Given the description of an element on the screen output the (x, y) to click on. 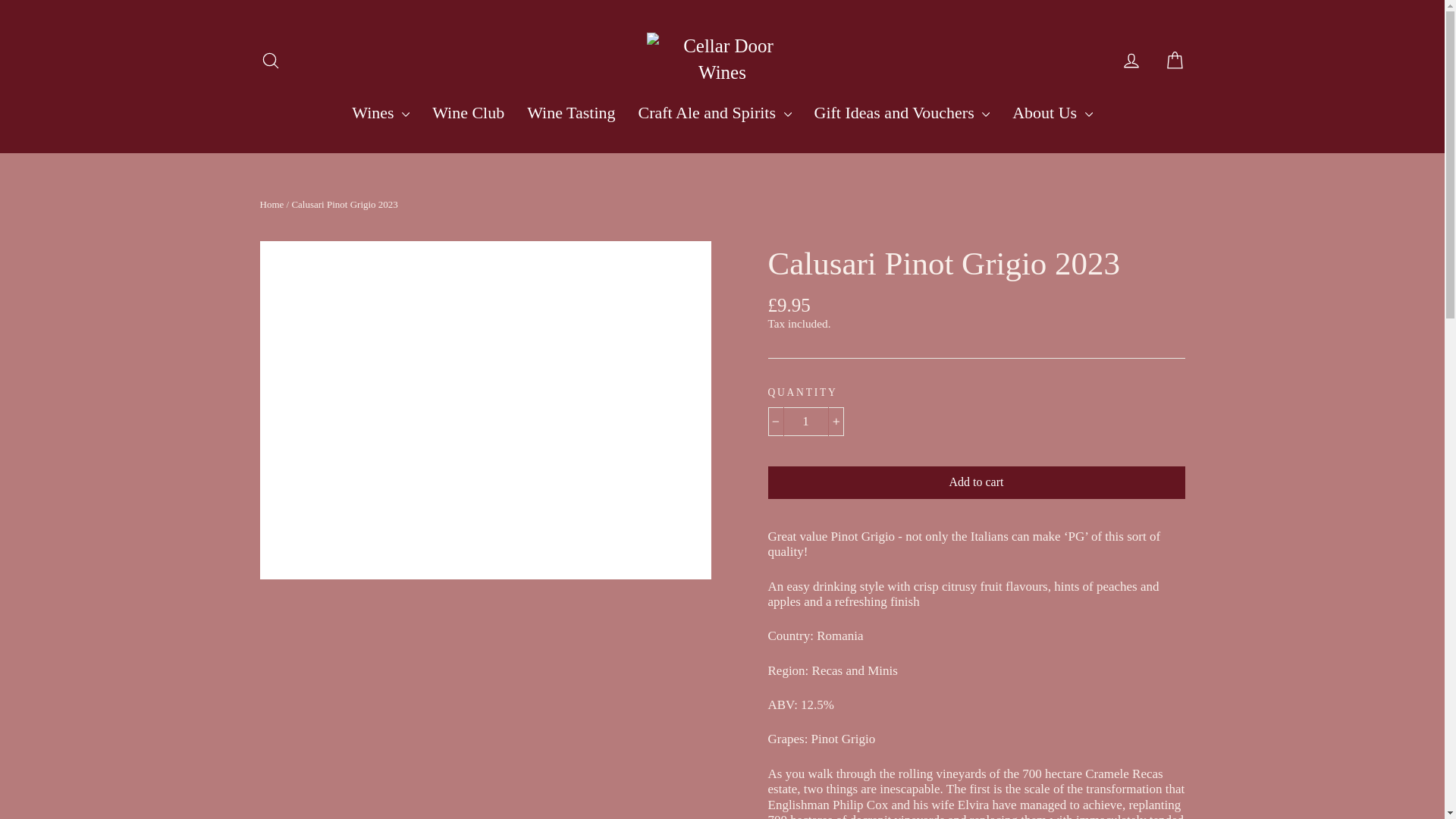
Back to the frontpage (271, 204)
1 (805, 421)
